Given the description of an element on the screen output the (x, y) to click on. 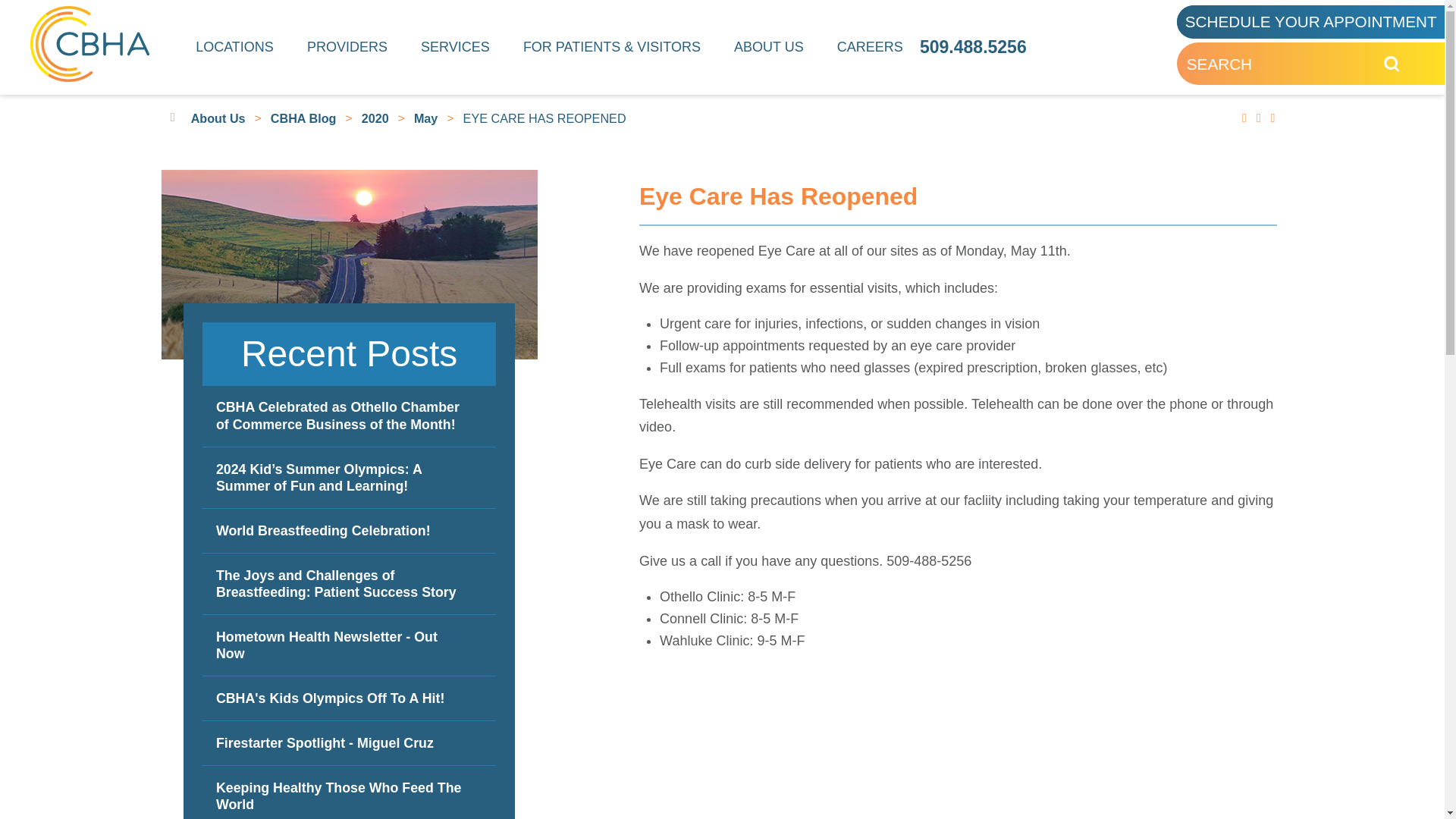
LOCATIONS (235, 47)
ABOUT US (768, 47)
CAREERS (869, 47)
SERVICES (454, 47)
PROVIDERS (346, 47)
Columbia Basin Health Organization (89, 43)
